Given the description of an element on the screen output the (x, y) to click on. 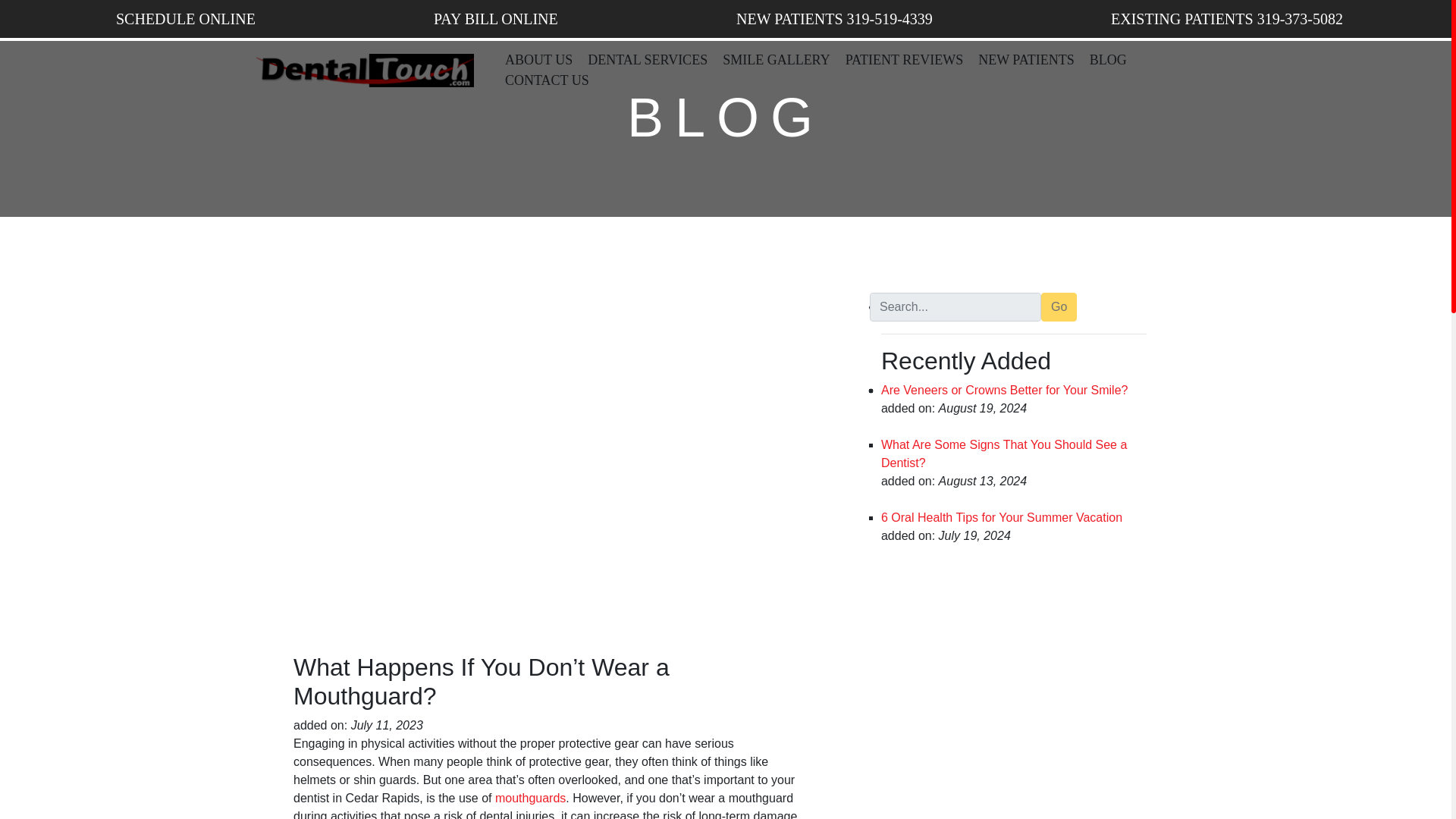
ABOUT US (538, 60)
Dental Touch Associates (364, 69)
SMILE GALLERY (776, 60)
PAY BILL ONLINE (491, 18)
EXISTING PATIENTS 319-373-5082 (1222, 18)
PATIENT REVIEWS (904, 60)
NEW PATIENTS (1026, 60)
DENTAL SERVICES (646, 60)
SCHEDULE ONLINE (181, 18)
BLOG (1107, 60)
